Given the description of an element on the screen output the (x, y) to click on. 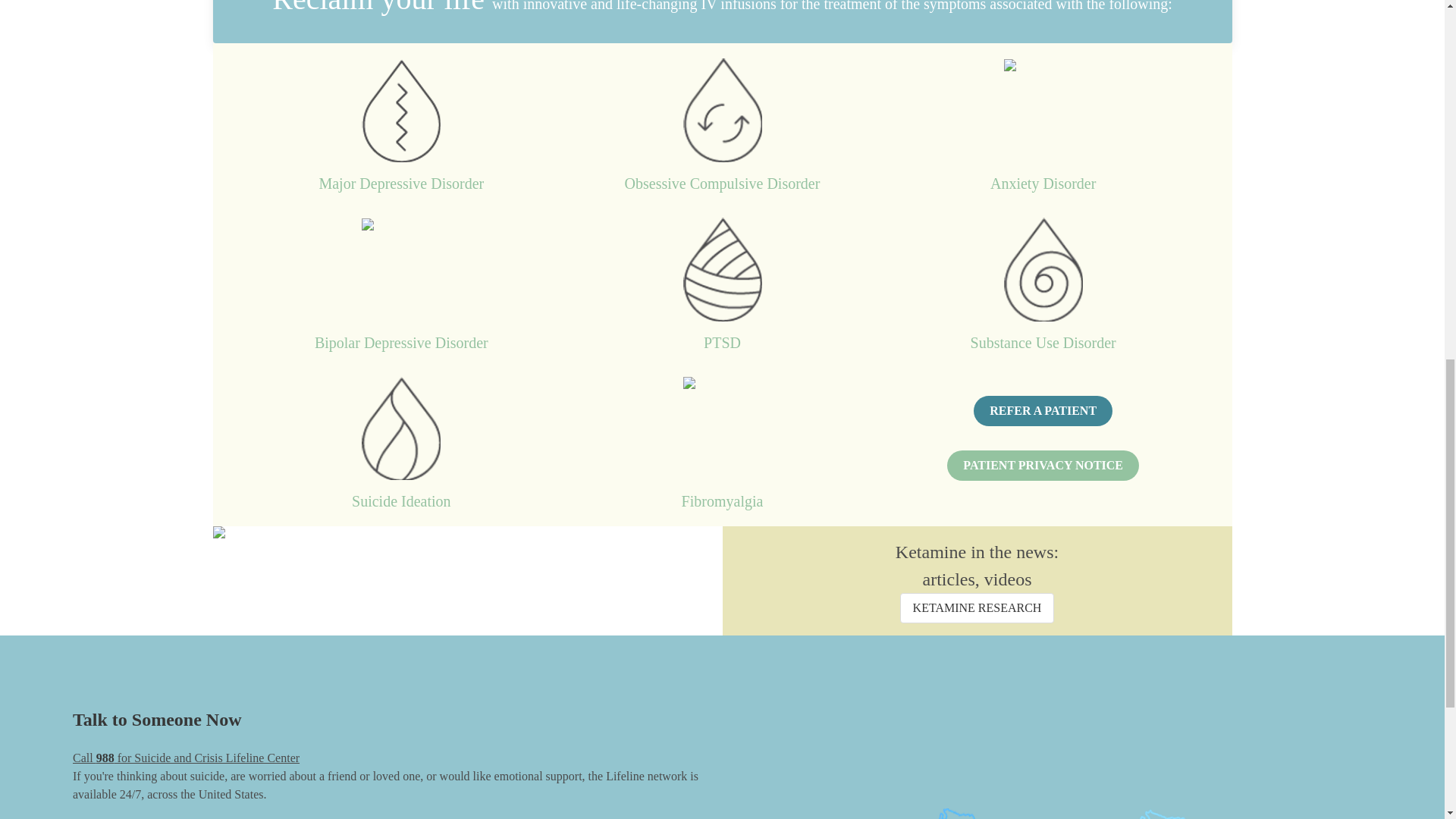
REFER A PATIENT (1043, 410)
PATIENT PRIVACY NOTICE (1042, 465)
Contact Us today (1042, 465)
Ketamine Research (976, 607)
Refer a Patient (1043, 410)
KETAMINE RESEARCH (976, 607)
